Given the description of an element on the screen output the (x, y) to click on. 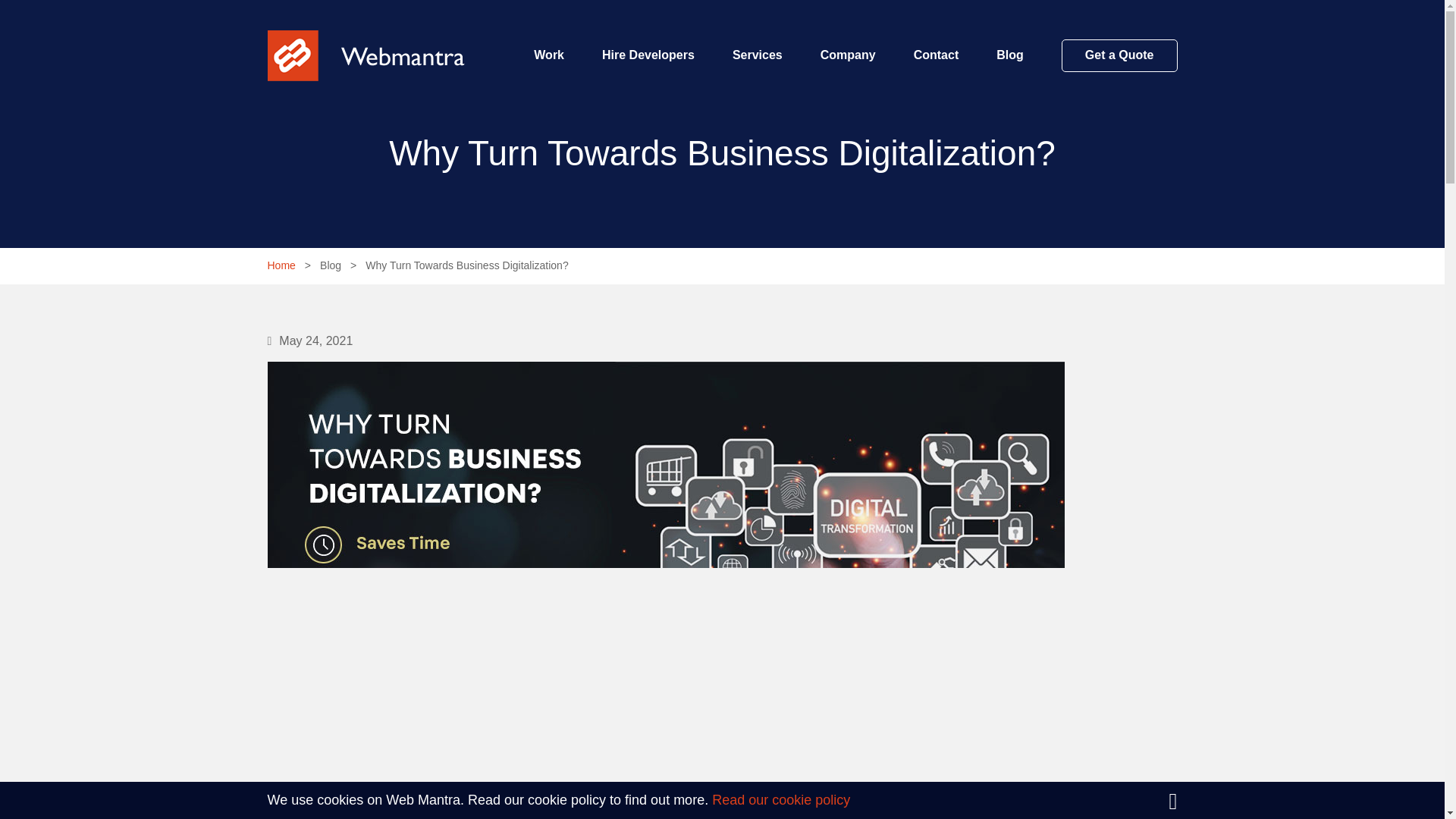
Services (757, 68)
Hire Developers (648, 68)
Hire Developers (648, 68)
Services (757, 68)
